Given the description of an element on the screen output the (x, y) to click on. 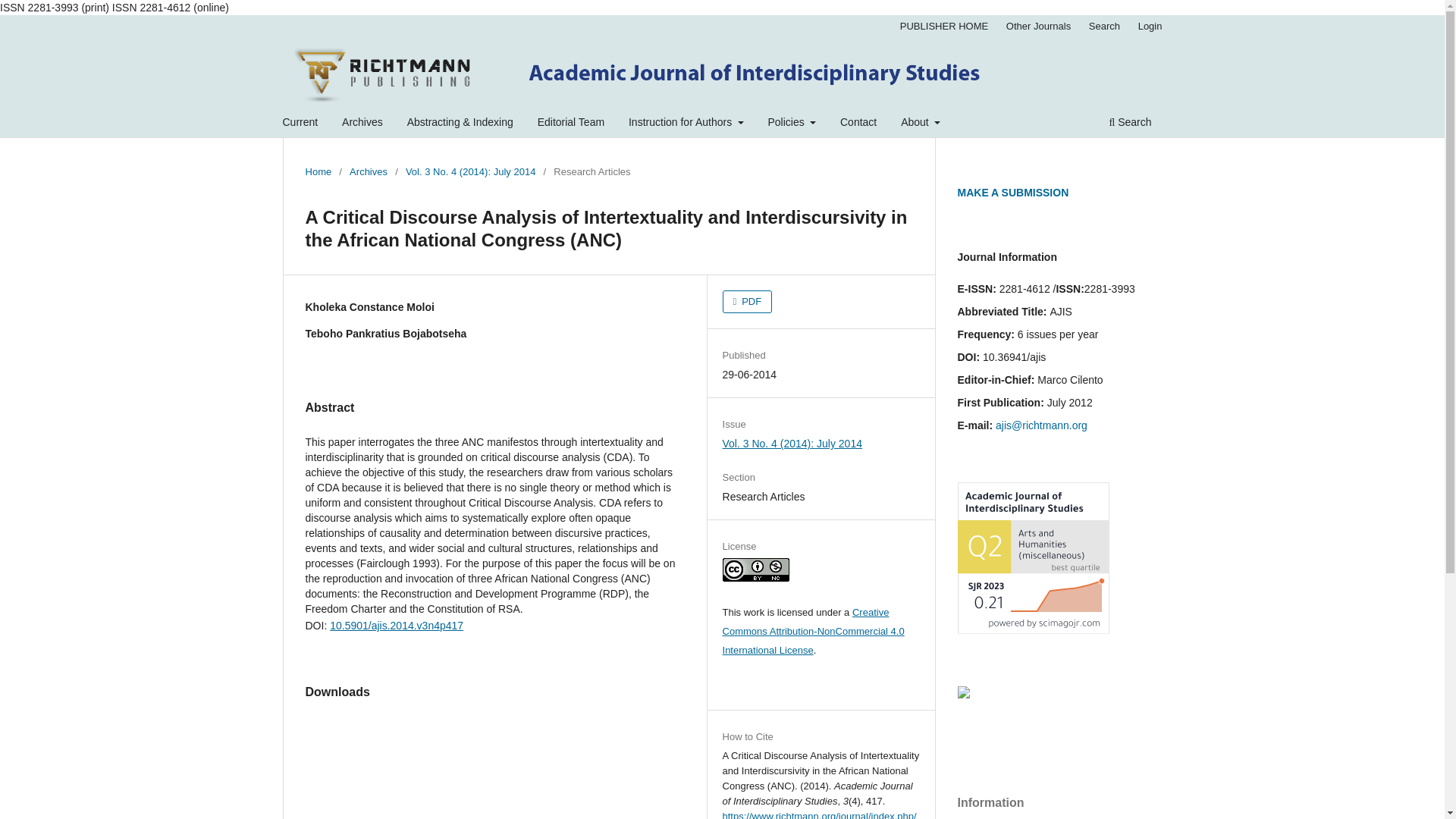
Login (1150, 26)
Contact (858, 123)
Current (300, 123)
Other Journals (1038, 26)
Policies (791, 123)
PDF (747, 301)
PUBLISHER HOME (943, 26)
Search (1129, 123)
About (919, 123)
Home (317, 171)
Archives (368, 171)
Search (1103, 26)
Editorial Team (571, 123)
Archives (362, 123)
Instruction for Authors (686, 123)
